Given the description of an element on the screen output the (x, y) to click on. 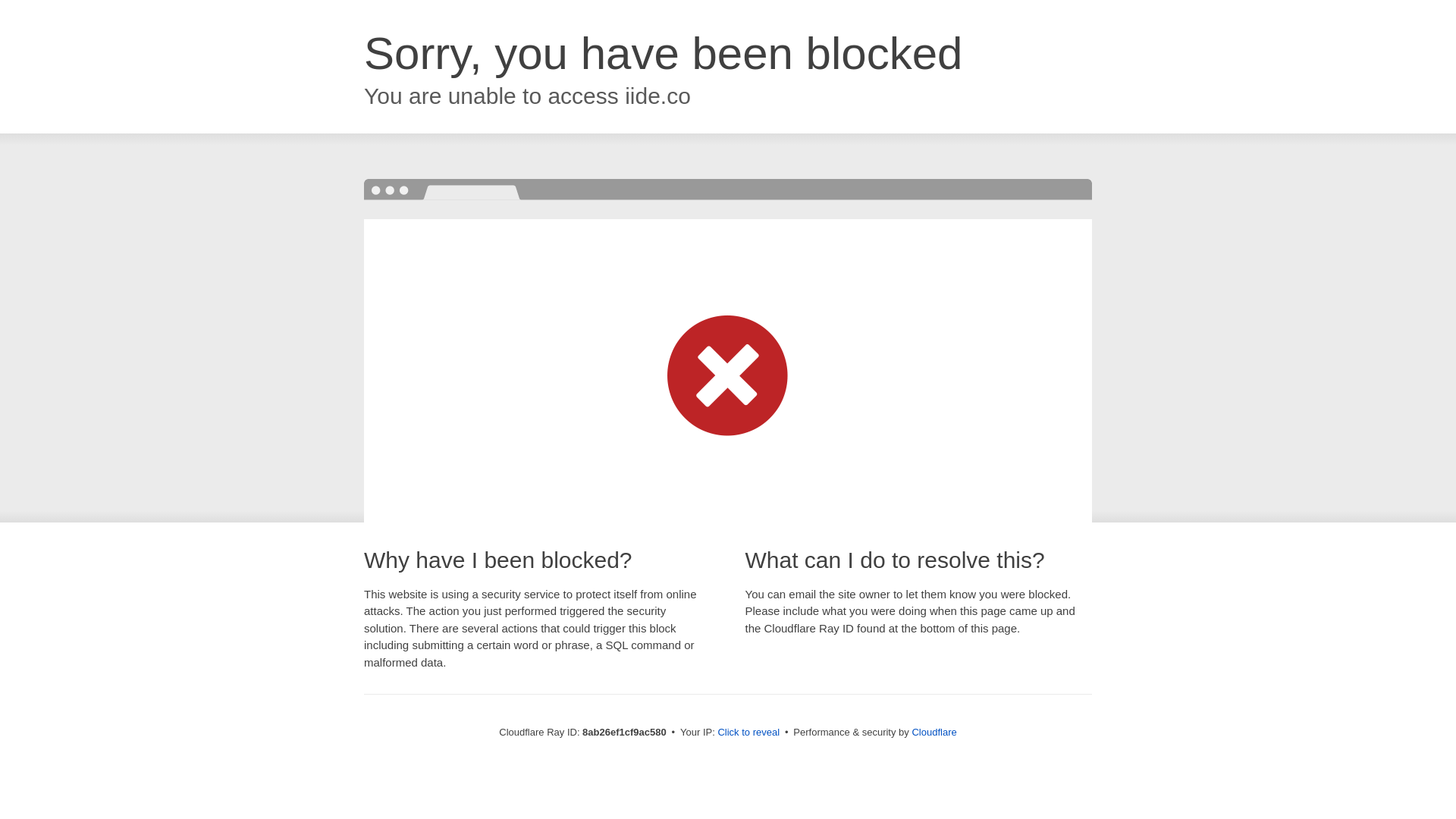
Cloudflare (933, 731)
Click to reveal (747, 732)
